Given the description of an element on the screen output the (x, y) to click on. 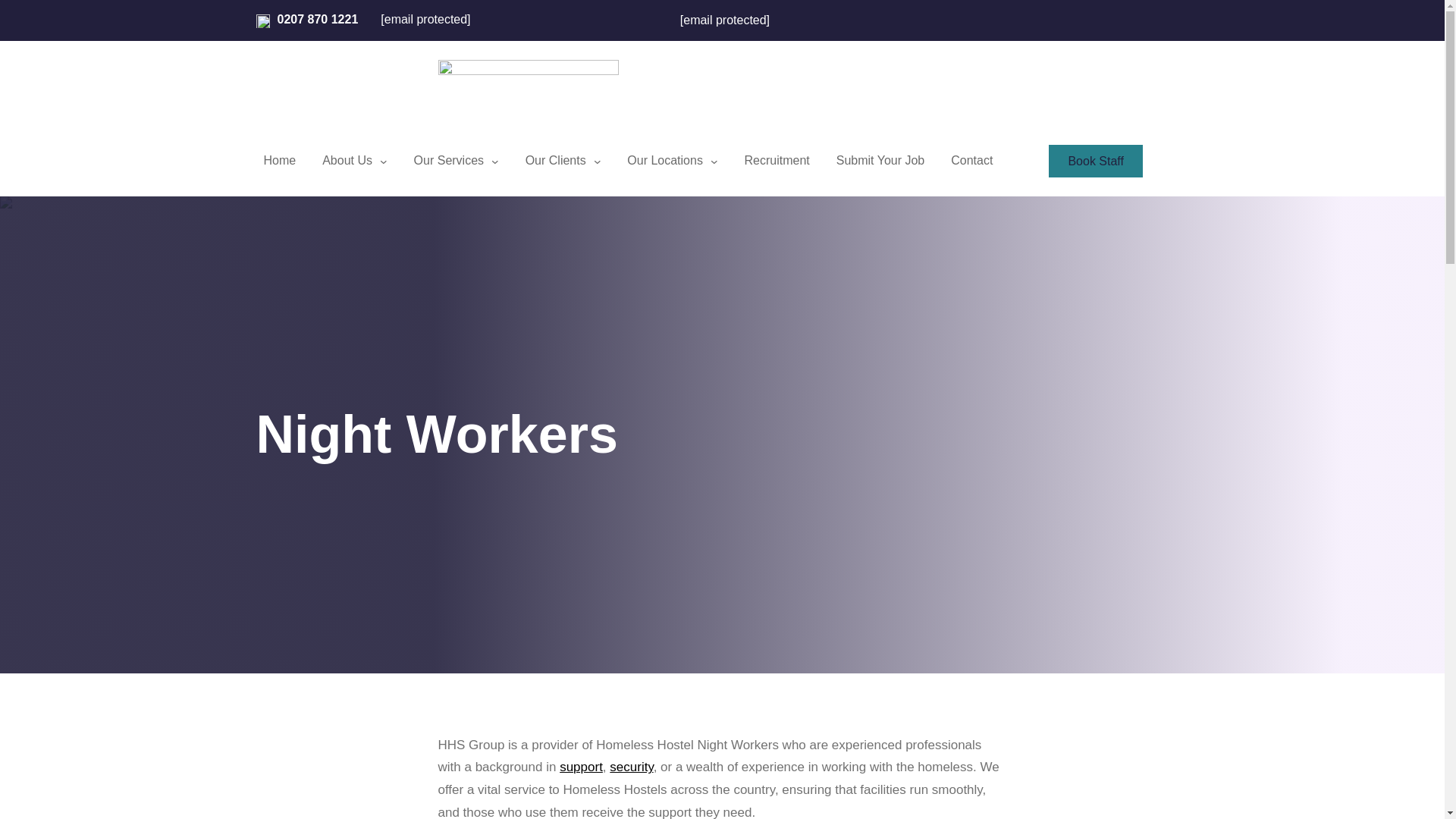
Our Services (449, 160)
support (580, 766)
security (631, 766)
Recruitment (776, 160)
Submit Your Job (880, 160)
Home (280, 160)
Our Clients (556, 160)
Book Staff (1095, 160)
Our Locations (665, 160)
About Us (347, 160)
